Given the description of an element on the screen output the (x, y) to click on. 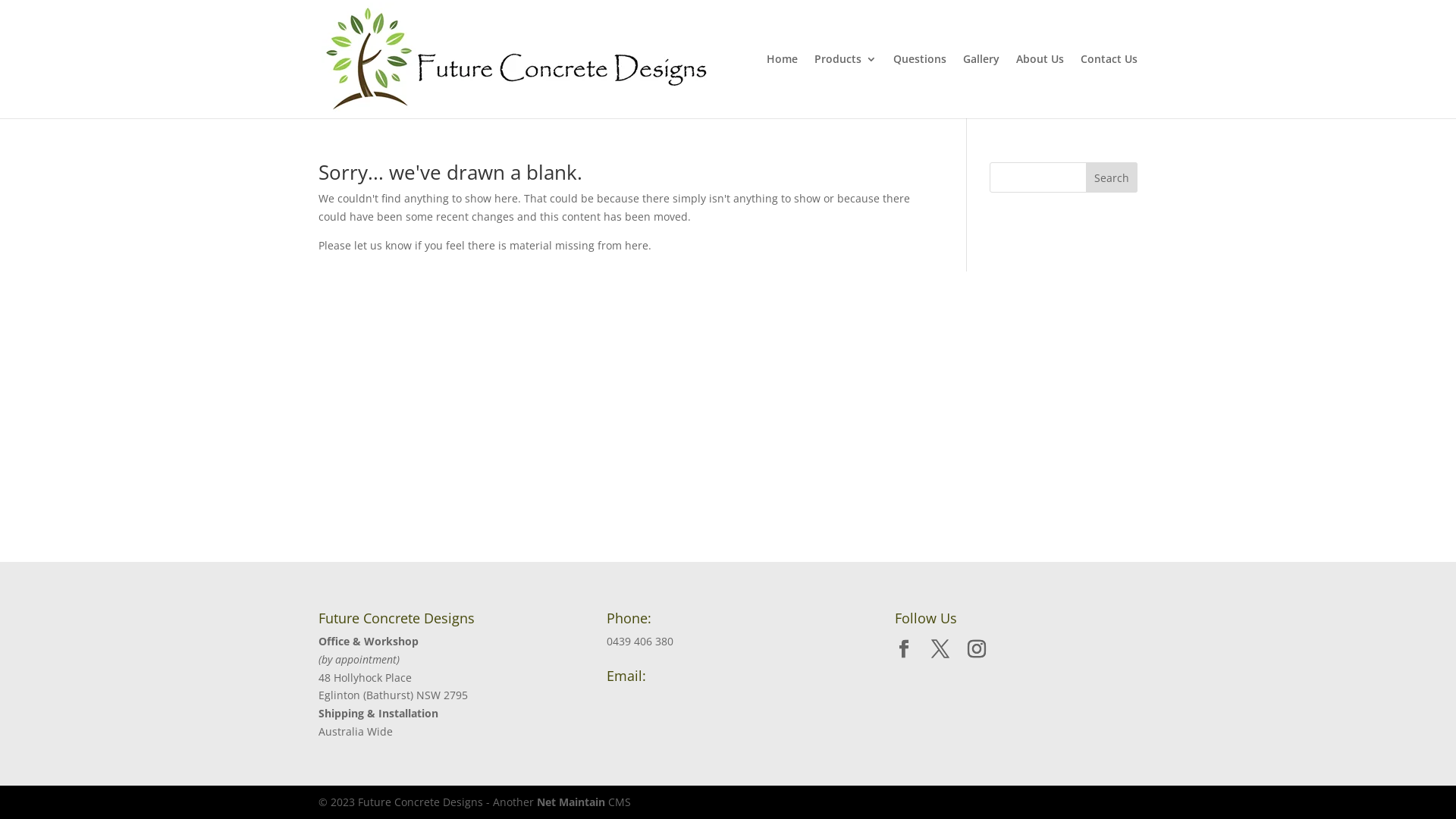
About Us Element type: text (1039, 85)
Home Element type: text (781, 85)
Gallery Element type: text (981, 85)
Contact Us Element type: text (1108, 85)
0439 406 380 Element type: text (639, 640)
Questions Element type: text (919, 85)
Search Element type: text (1111, 177)
Net Maintain Element type: text (570, 801)
Products Element type: text (845, 85)
